Given the description of an element on the screen output the (x, y) to click on. 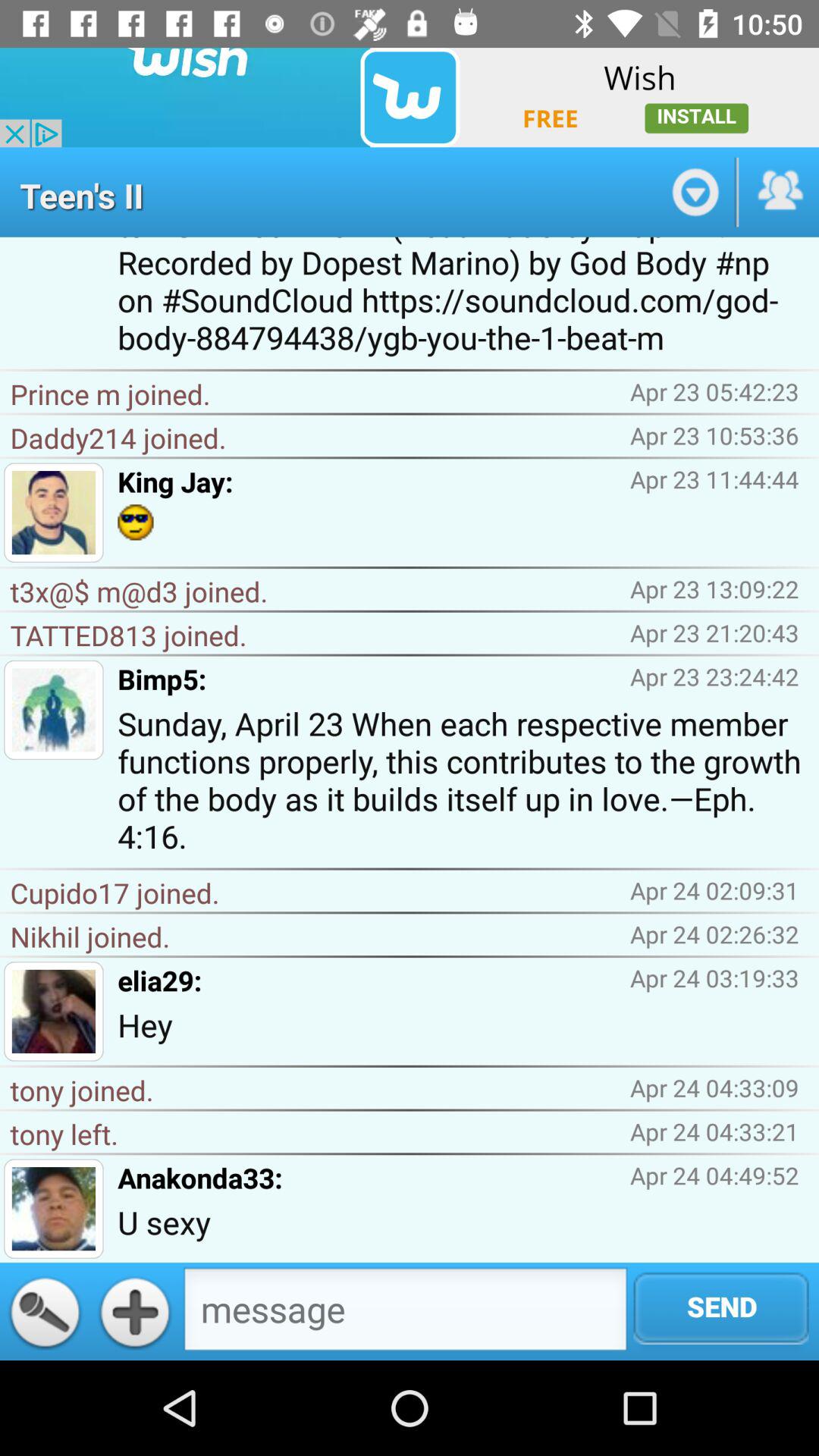
switch autoplay option (694, 192)
